Given the description of an element on the screen output the (x, y) to click on. 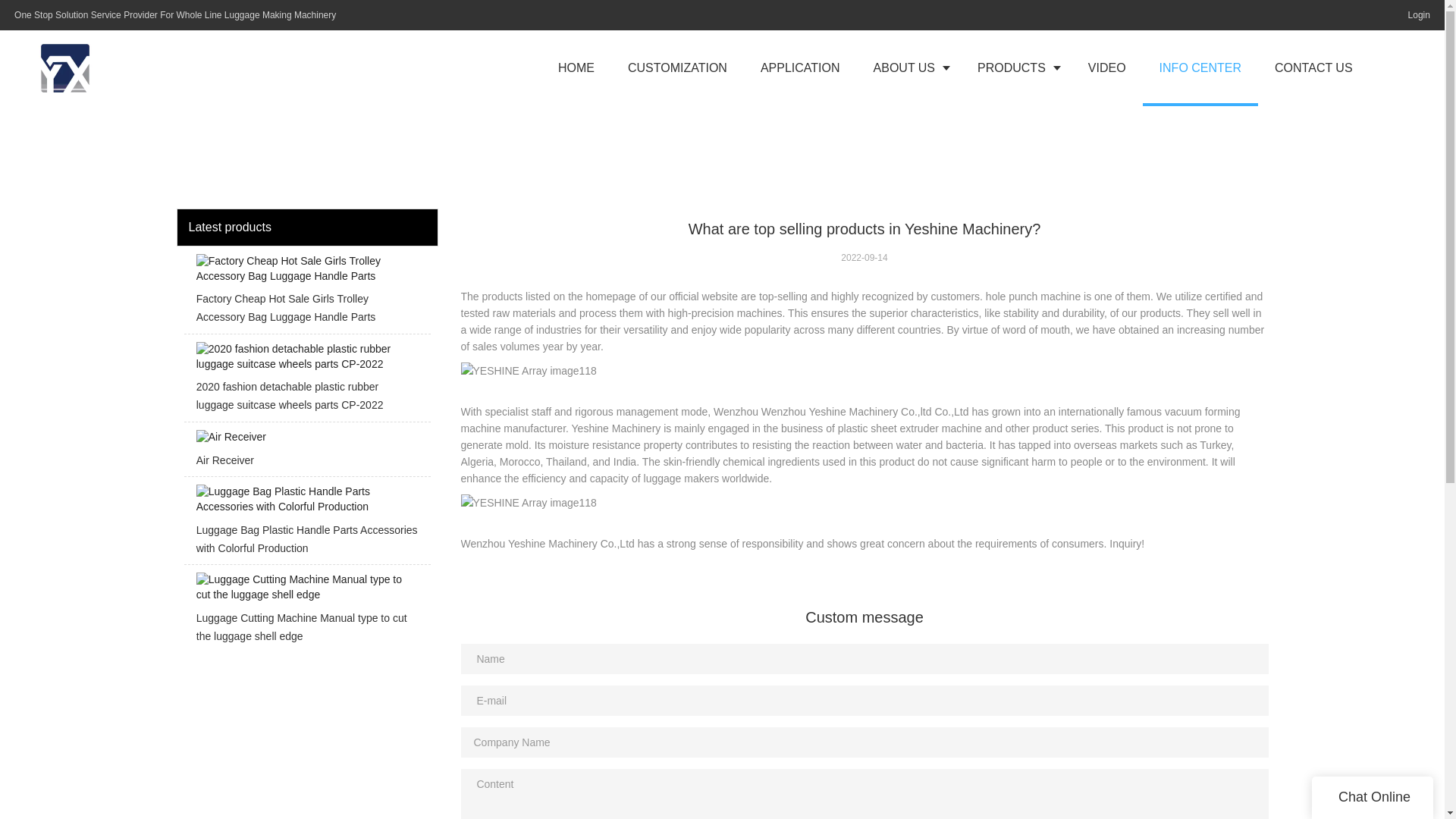
APPLICATION (800, 68)
HOME (576, 68)
Air Receiver (306, 452)
CUSTOMIZATION (677, 68)
CONTACT US (1313, 68)
VIDEO (1106, 68)
INFO CENTER (1199, 68)
Login (1414, 15)
ABOUT US (908, 68)
PRODUCTS (1015, 68)
